Given the description of an element on the screen output the (x, y) to click on. 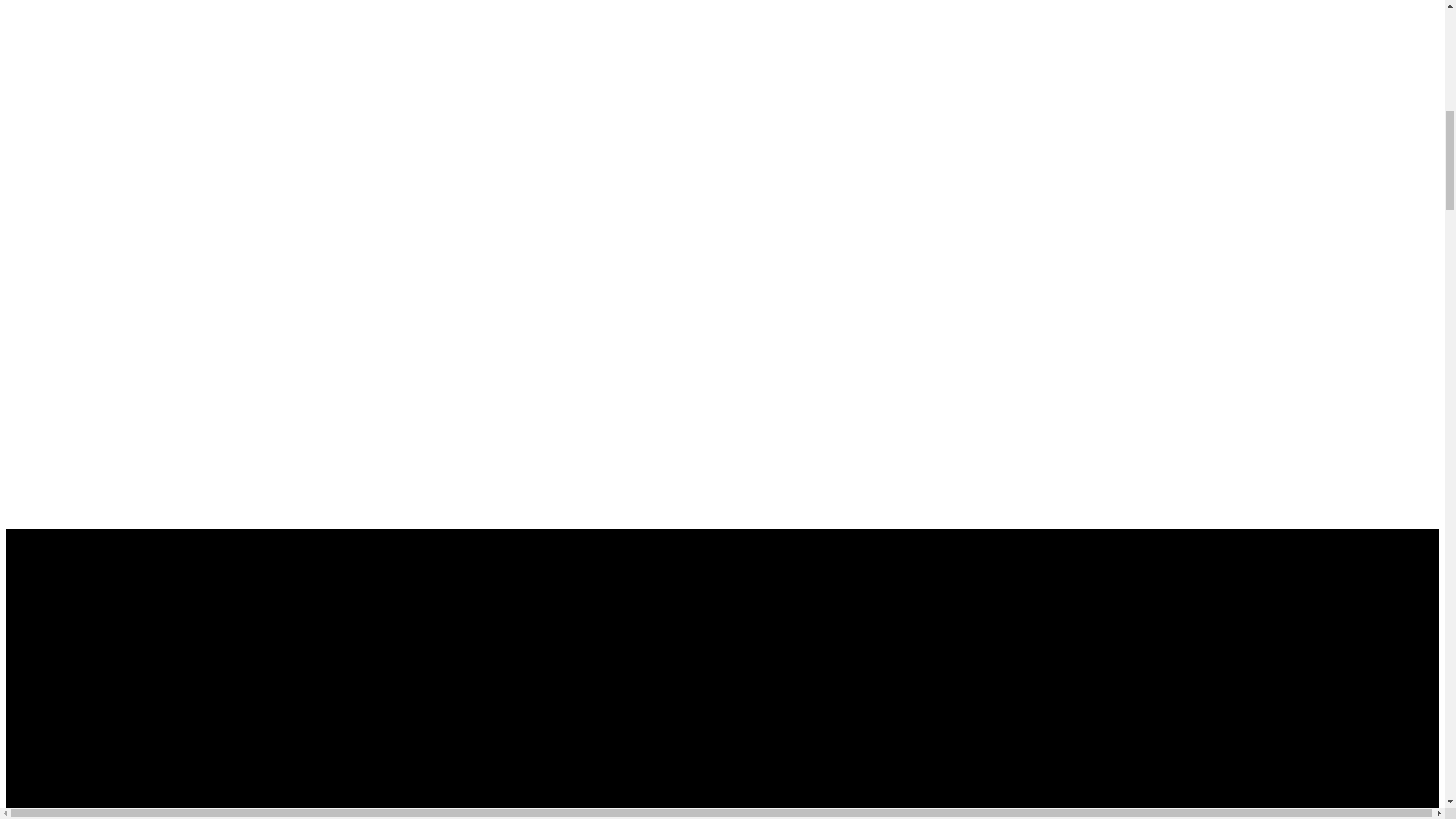
Login (24, 595)
Register (30, 711)
Send My Password (54, 797)
